Given the description of an element on the screen output the (x, y) to click on. 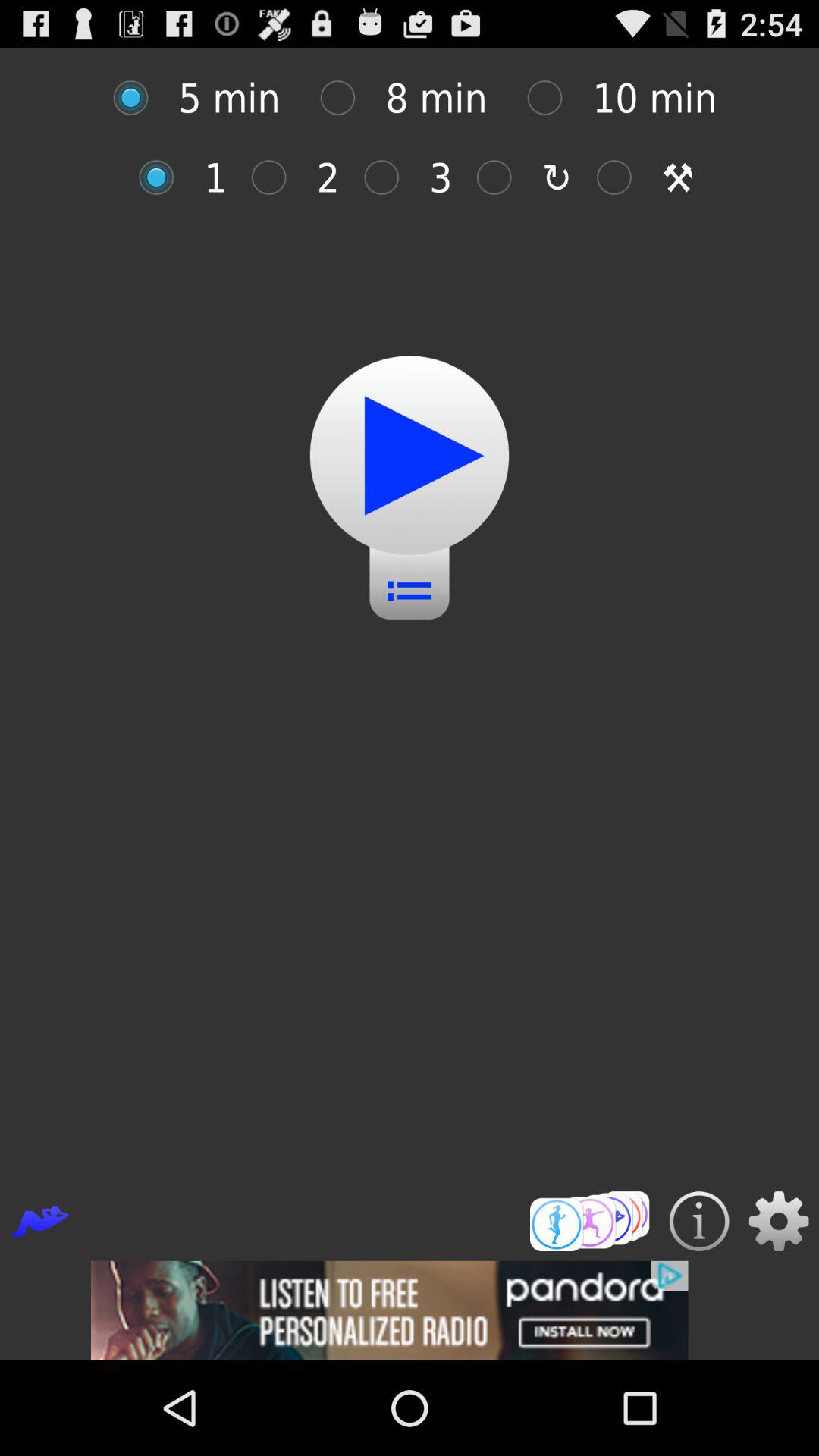
information symbol (699, 1221)
